Given the description of an element on the screen output the (x, y) to click on. 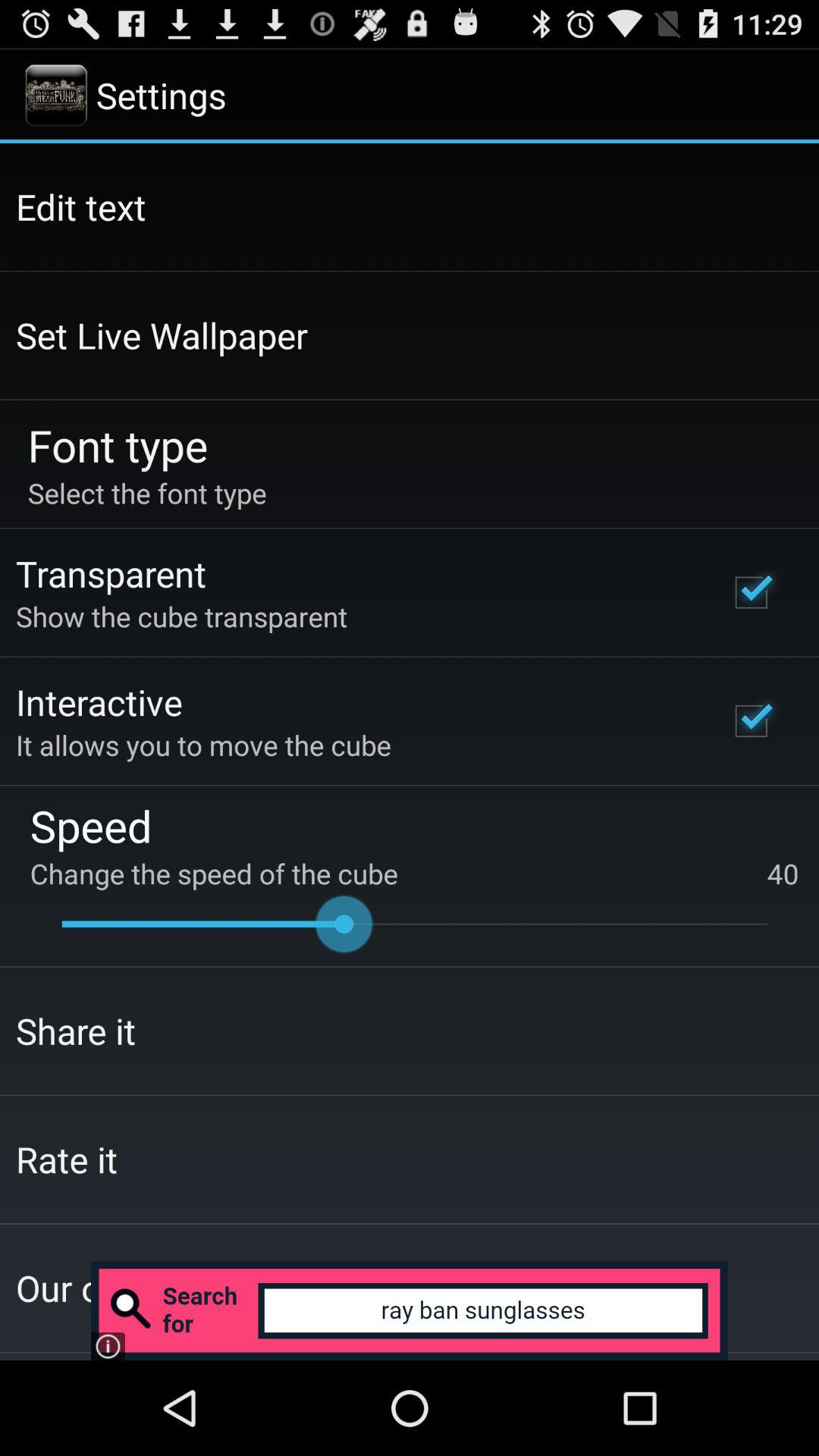
select interactive icon (98, 701)
